Given the description of an element on the screen output the (x, y) to click on. 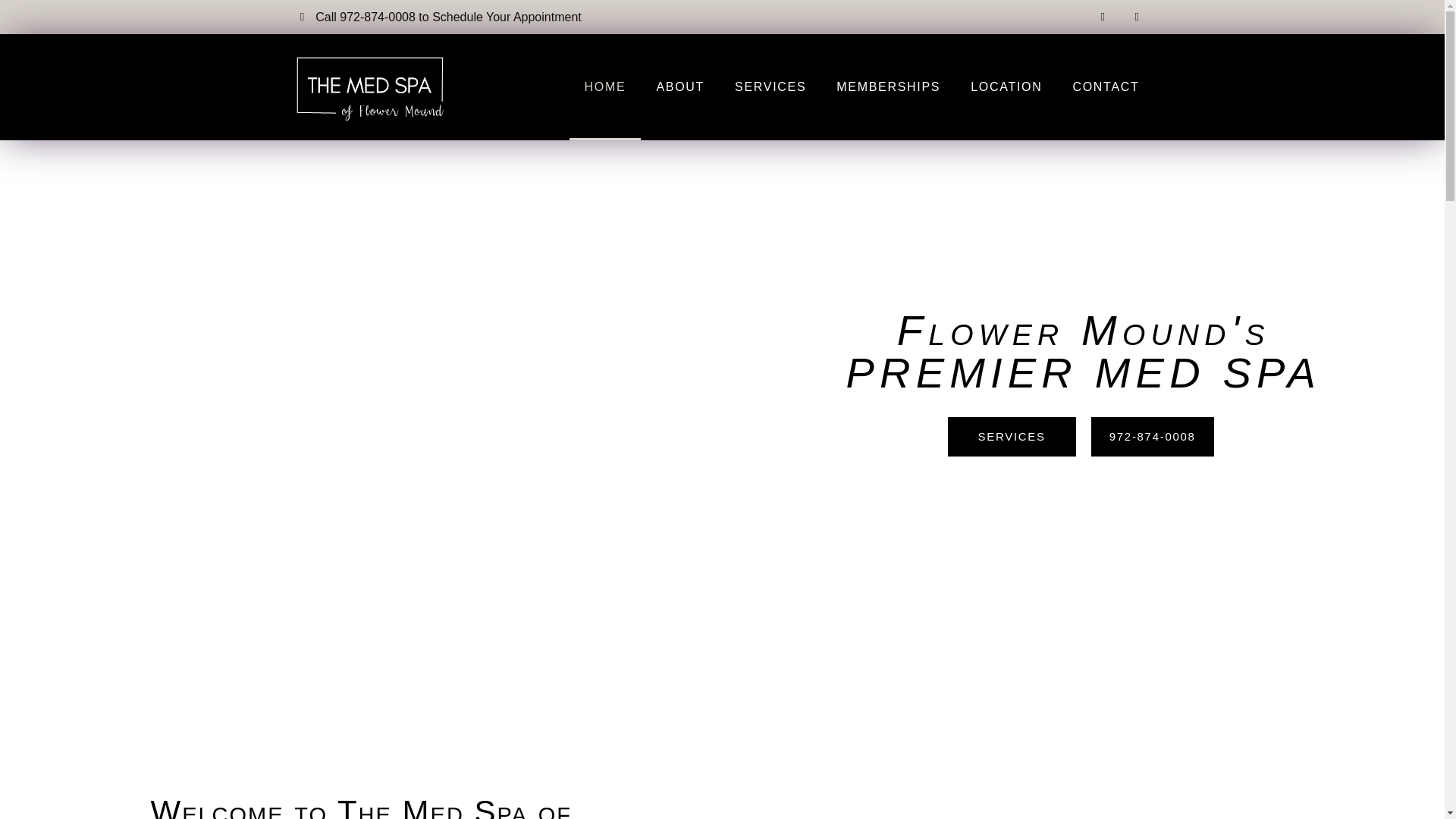
CONTACT (1105, 87)
SERVICES (770, 87)
SERVICES (1011, 436)
MEMBERSHIPS (888, 87)
LOCATION (1006, 87)
